Given the description of an element on the screen output the (x, y) to click on. 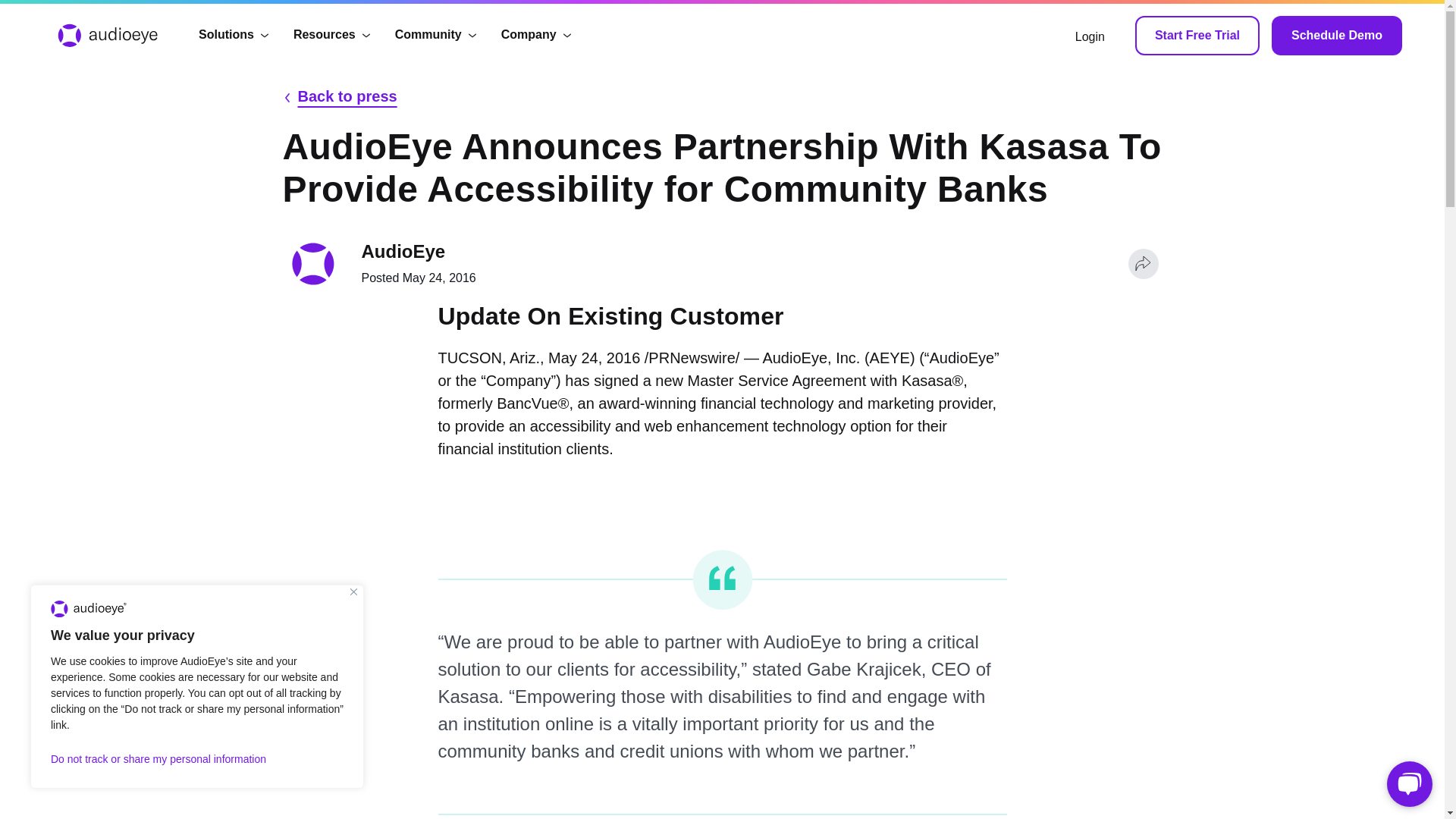
Schedule Demo (1336, 34)
Solutions (233, 34)
Chat Widget (1406, 782)
Do not track or share my personal information (196, 759)
Login (1090, 35)
Resources (331, 34)
Back to press (346, 96)
Community (435, 34)
Company (536, 34)
Start Free Trial (1197, 34)
